Given the description of an element on the screen output the (x, y) to click on. 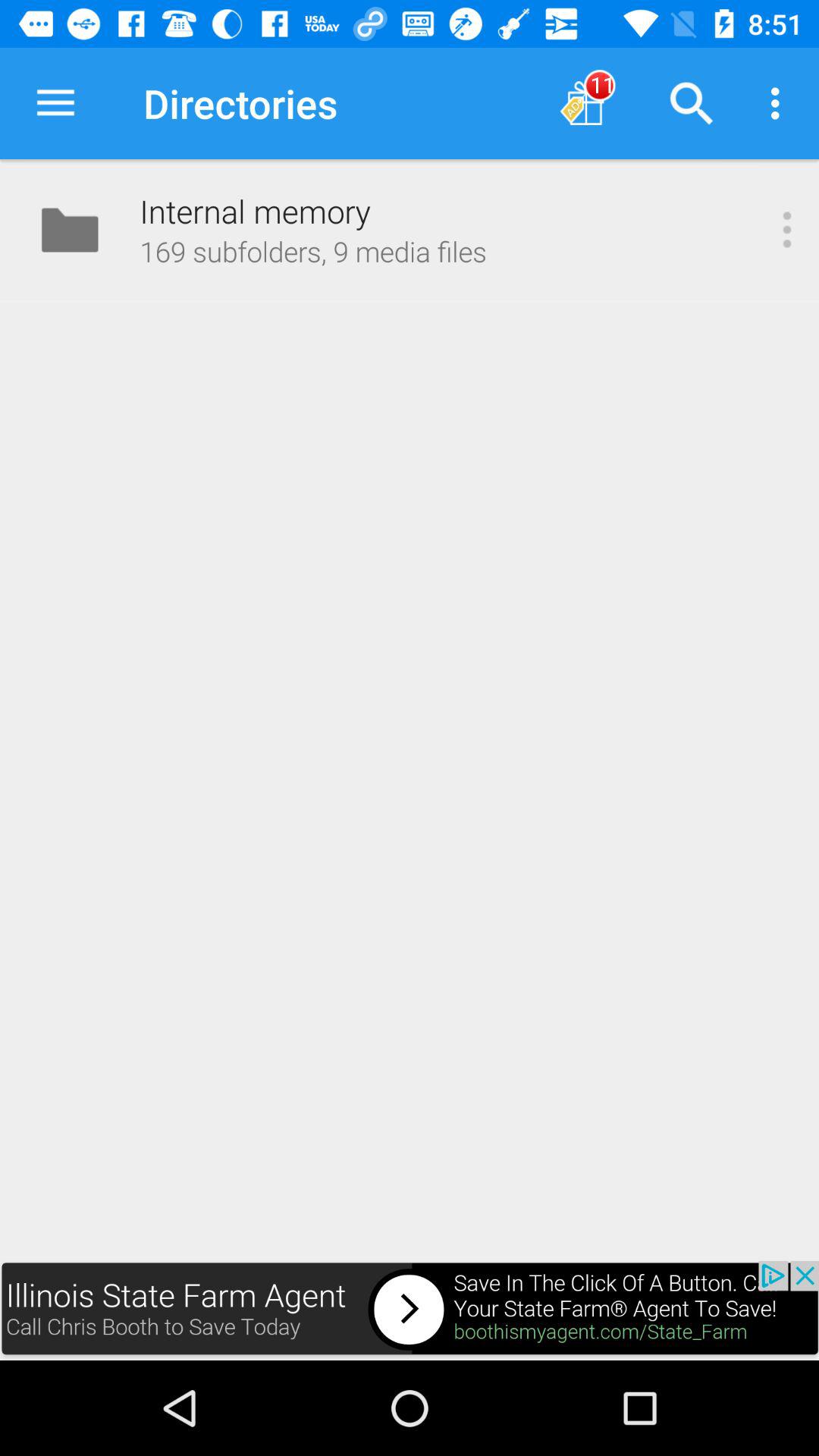
watch advertisement (409, 1310)
